Given the description of an element on the screen output the (x, y) to click on. 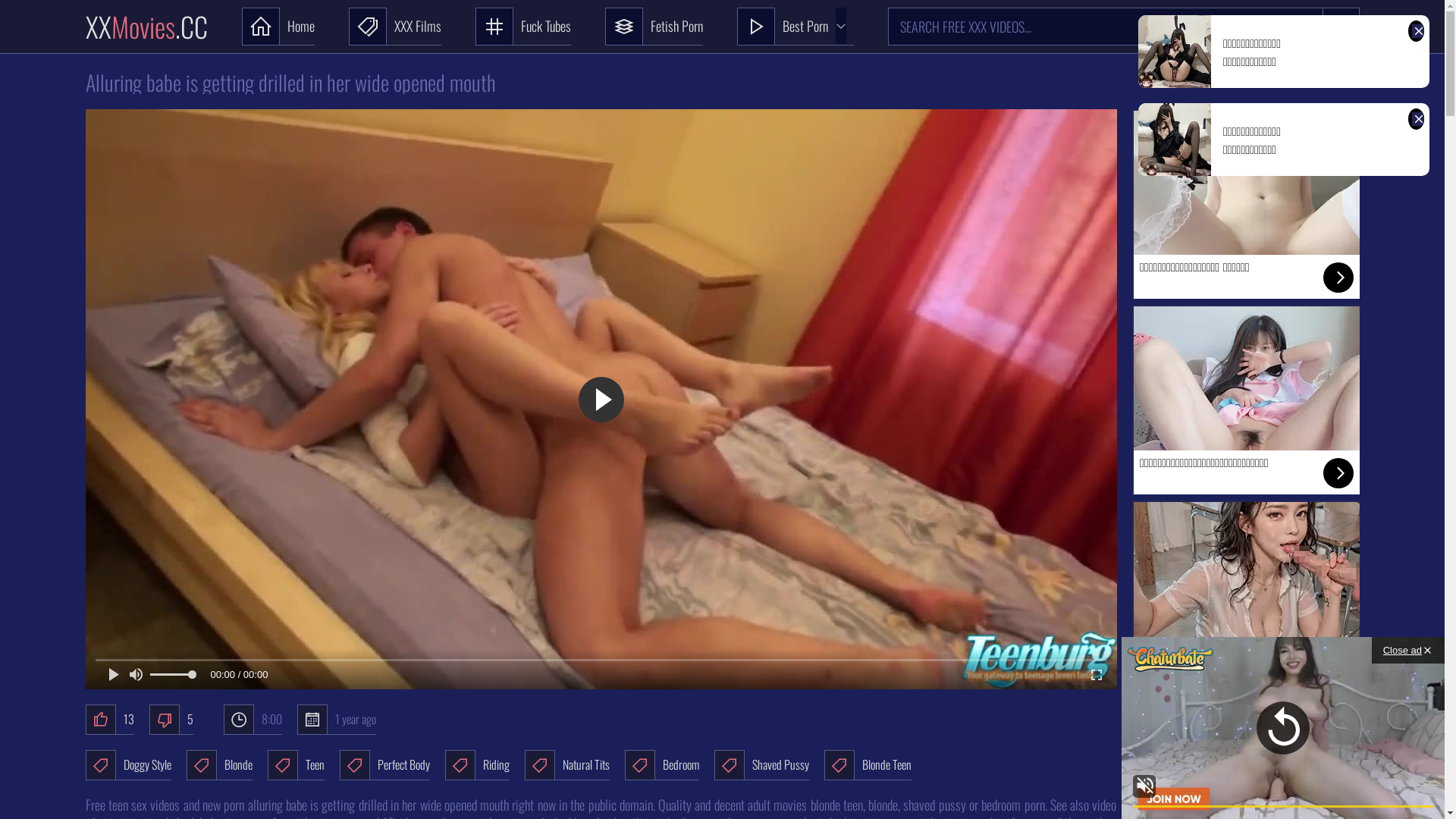
Home Element type: text (277, 26)
Perfect Body Element type: text (384, 764)
Bedroom Element type: text (661, 764)
XXMovies.CC Element type: text (145, 26)
Riding Element type: text (476, 764)
Find Element type: hover (1340, 26)
Blonde Element type: text (219, 764)
Shaved Pussy Element type: text (761, 764)
Natural Tits Element type: text (566, 764)
XXX Films Element type: text (394, 26)
5 Element type: text (170, 719)
Fetish Porn Element type: text (653, 26)
Doggy Style Element type: text (127, 764)
Fuck Tubes Element type: text (522, 26)
13 Element type: text (108, 719)
Blonde Teen Element type: text (866, 764)
Teen Element type: text (294, 764)
